Given the description of an element on the screen output the (x, y) to click on. 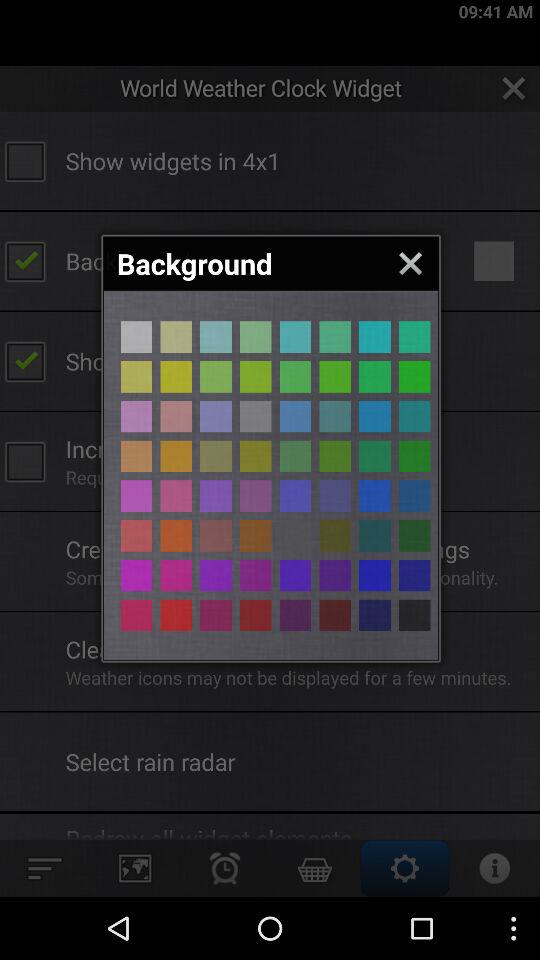
choose a color (136, 416)
